Given the description of an element on the screen output the (x, y) to click on. 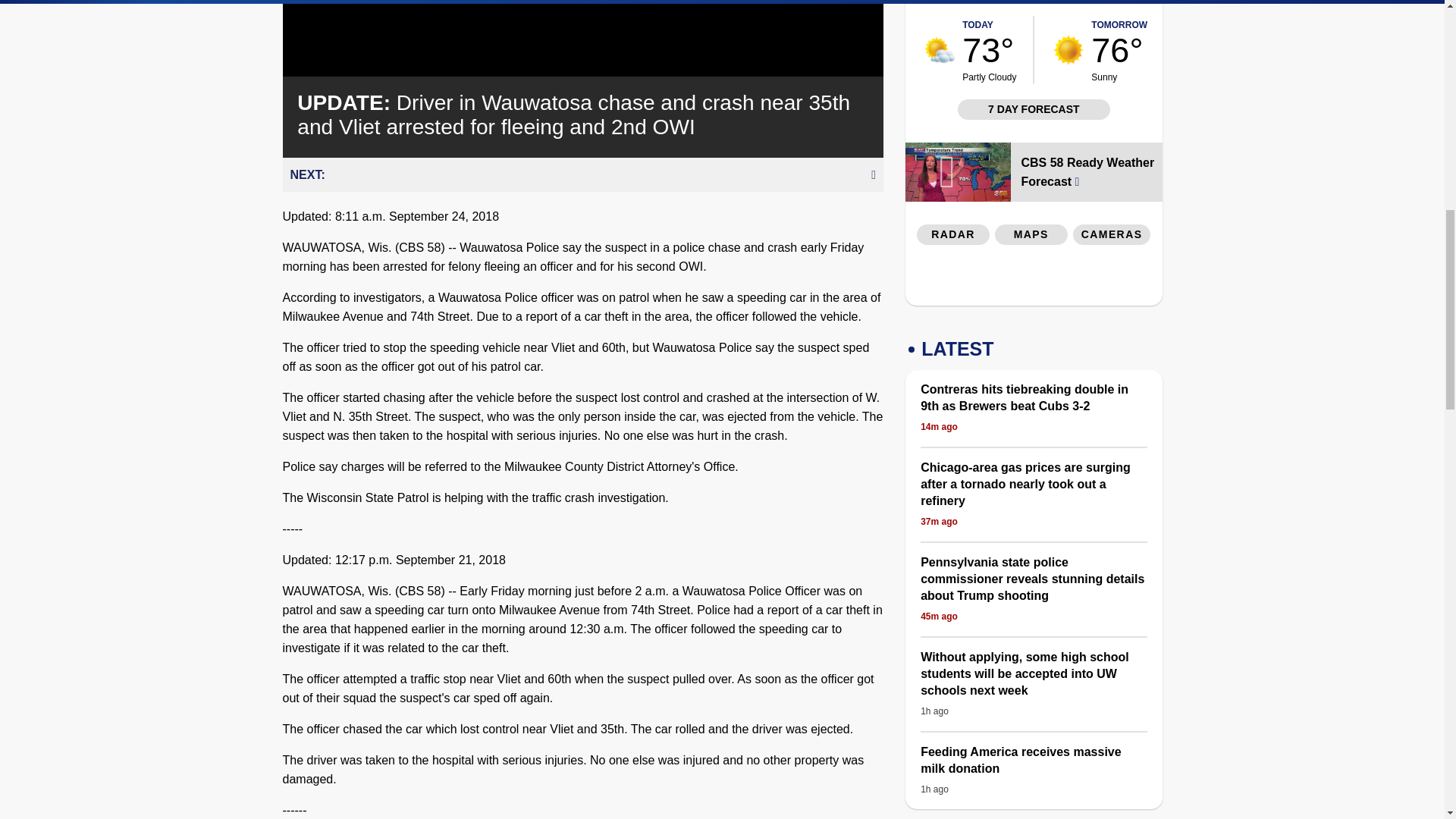
3rd party ad content (1112, 4)
3rd party ad content (1034, 279)
weather (1067, 50)
weather (939, 50)
